Given the description of an element on the screen output the (x, y) to click on. 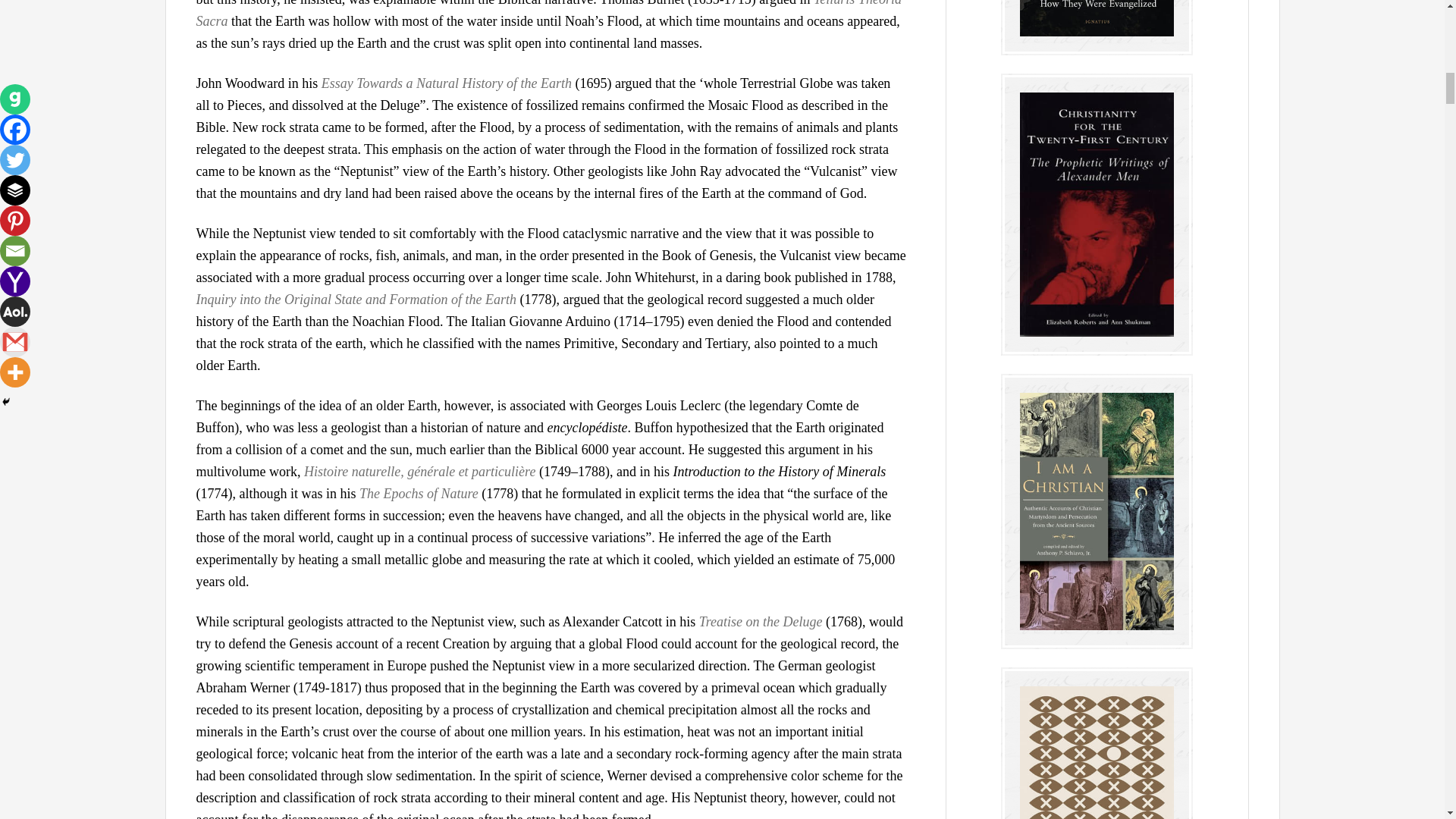
Inquiry into the Original State and Formation of the Earth (355, 299)
Treatise on the Deluge (760, 621)
Telluris Theoria Sacra (548, 14)
Essay Towards a Natural History of the Earth (446, 83)
The Epochs of Nature (419, 493)
